Given the description of an element on the screen output the (x, y) to click on. 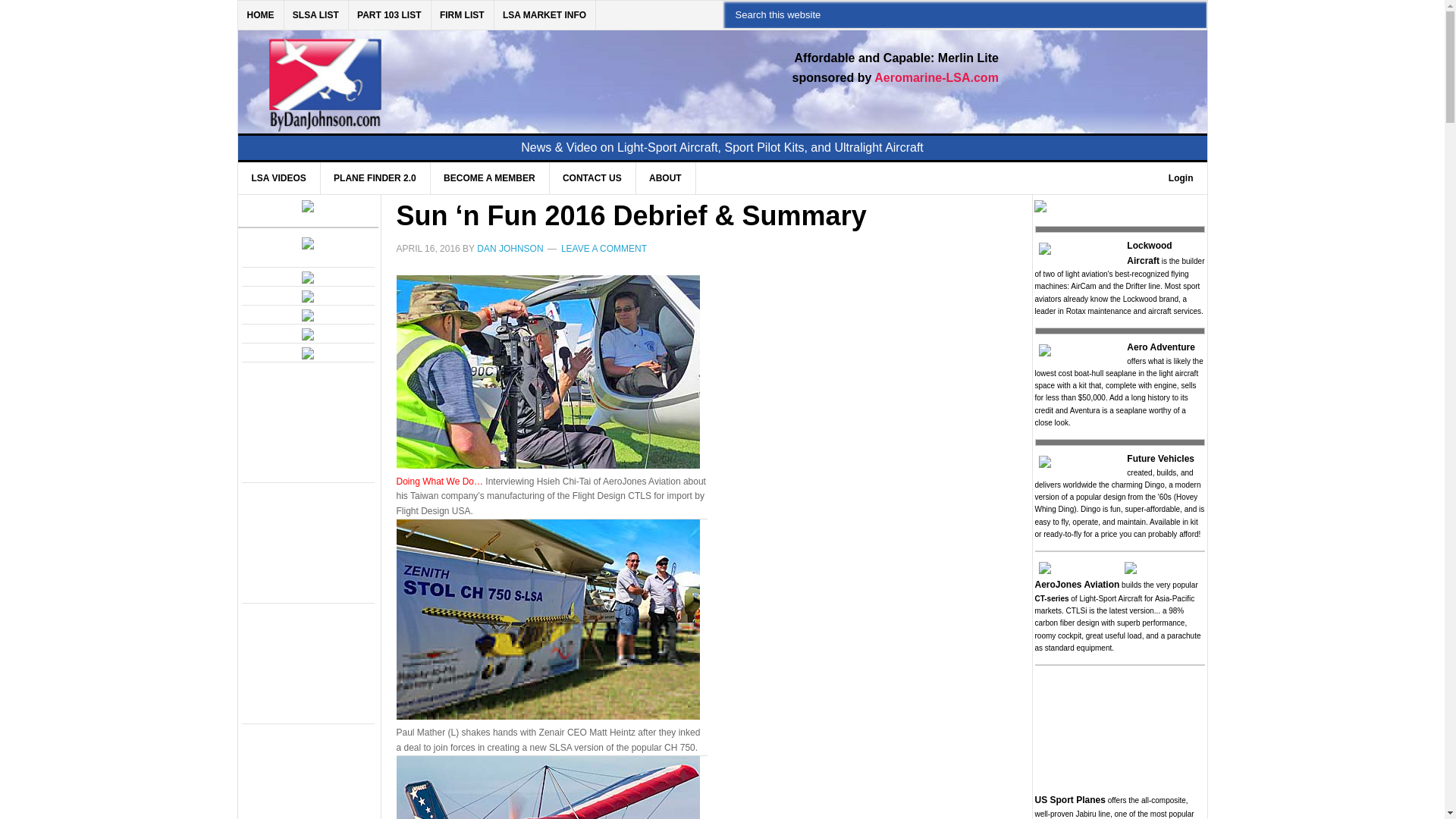
LEAVE A COMMENT (603, 248)
Login (1180, 178)
CONTACT US (592, 178)
BYDANJOHNSON.COM (469, 73)
BECOME A MEMBER (488, 178)
ABOUT (664, 178)
FIRM LIST (462, 14)
